Given the description of an element on the screen output the (x, y) to click on. 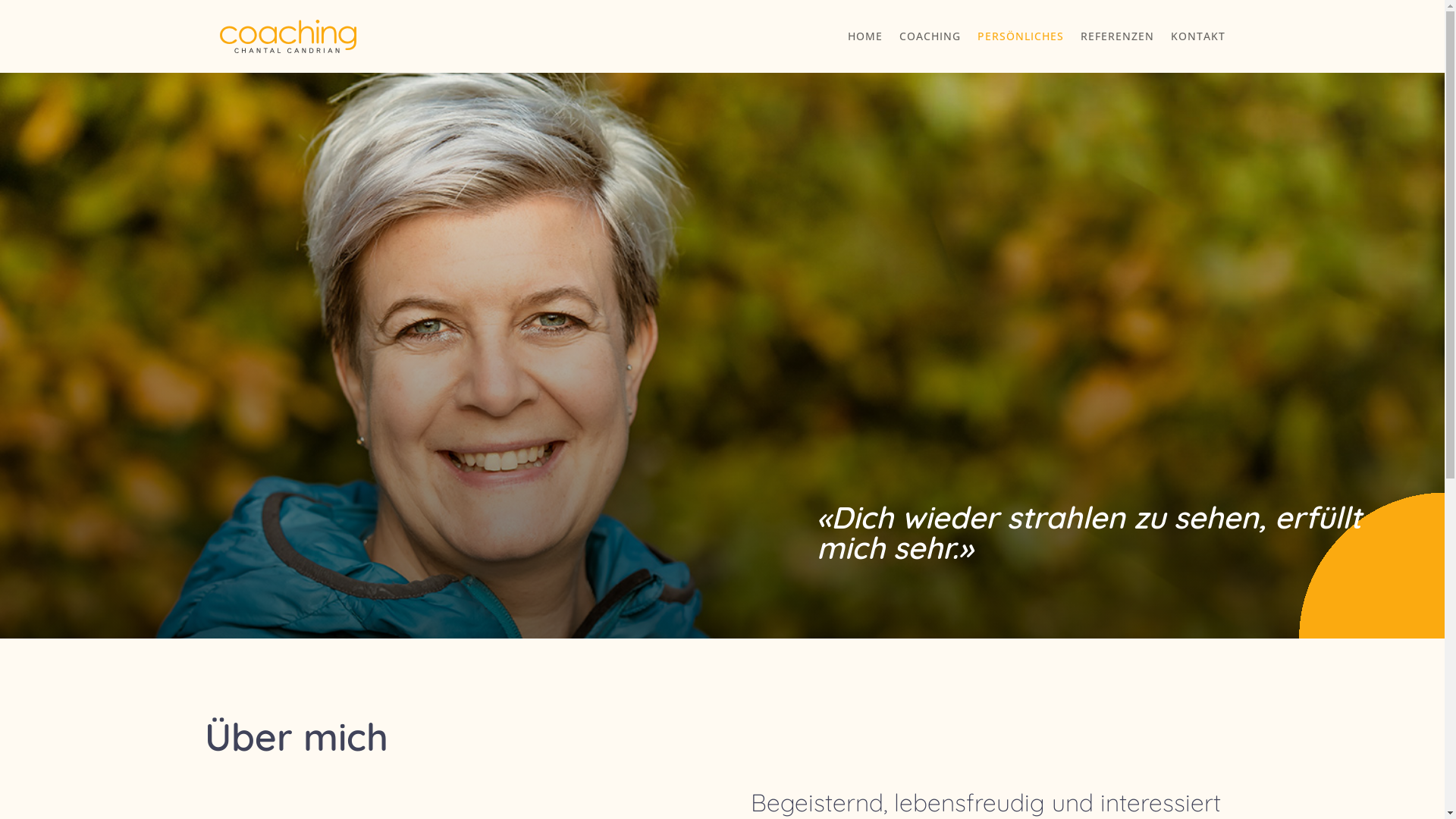
COACHING Element type: text (929, 36)
REFERENZEN Element type: text (1116, 36)
KONTAKT Element type: text (1197, 36)
HOME Element type: text (864, 36)
